Given the description of an element on the screen output the (x, y) to click on. 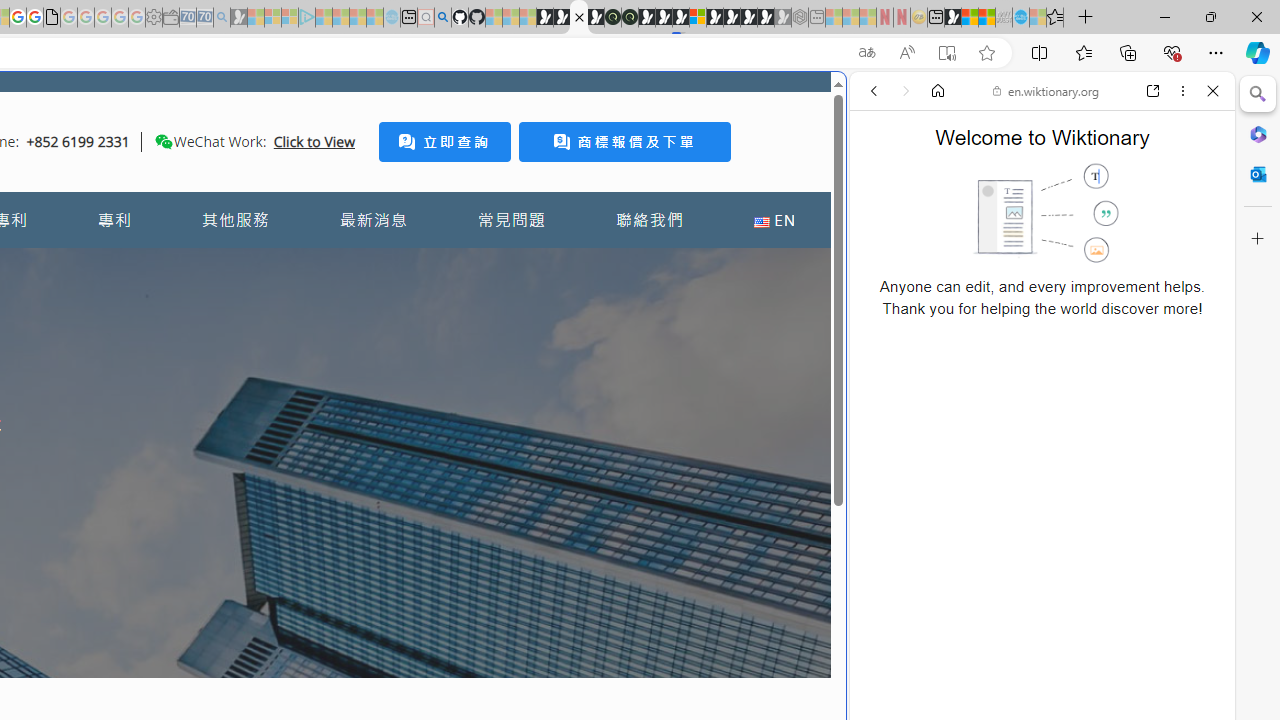
Forward (906, 91)
Future Focus Report 2024 (629, 17)
Microsoft account | Privacy - Sleeping (289, 17)
SEARCH TOOLS (1093, 228)
Search or enter web address (343, 191)
Earth has six continents not seven, radical new study claims (986, 17)
